Given the description of an element on the screen output the (x, y) to click on. 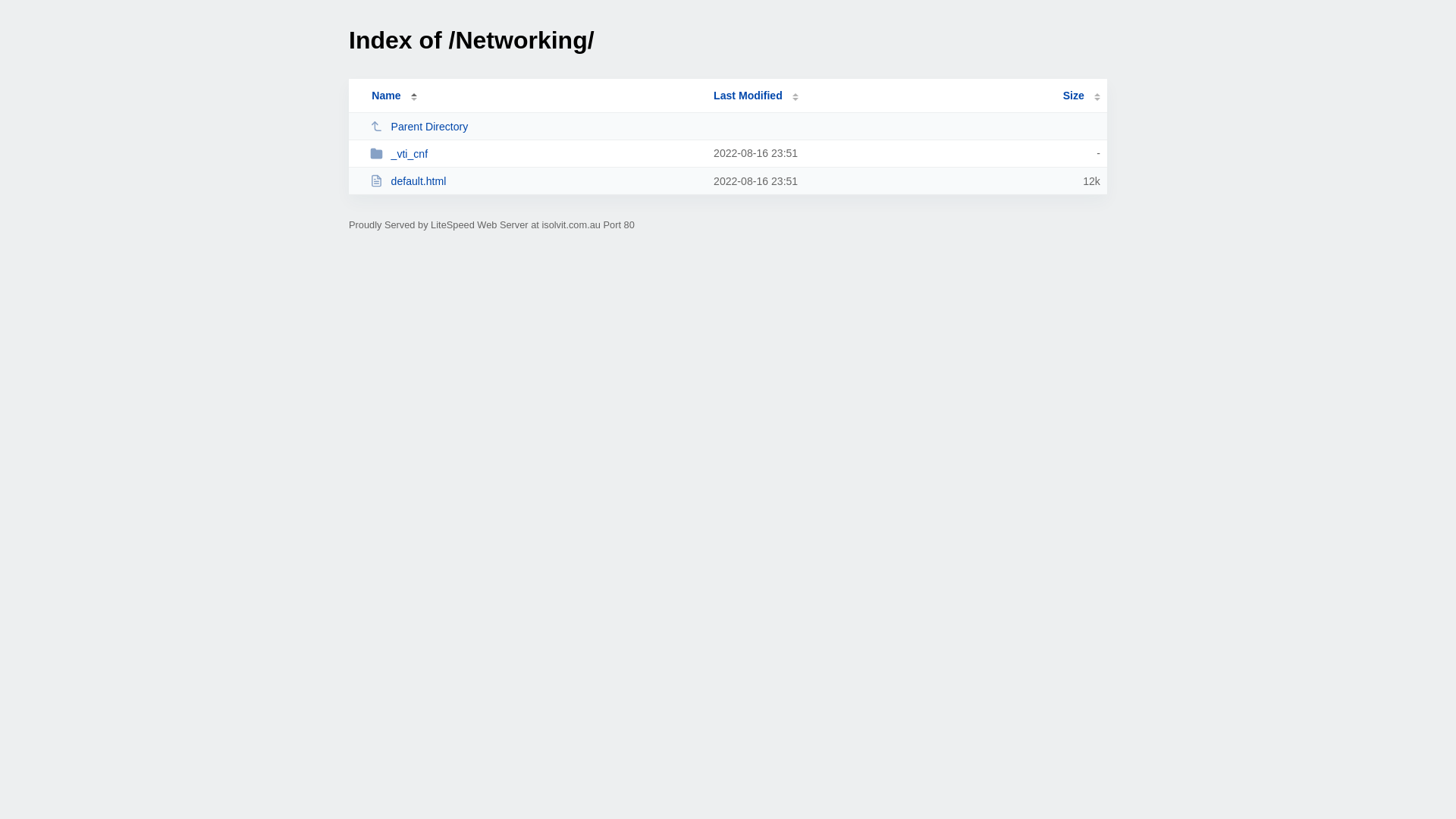
Last Modified Element type: text (755, 95)
Name Element type: text (385, 95)
default.html Element type: text (534, 180)
Parent Directory Element type: text (534, 125)
Size Element type: text (1081, 95)
_vti_cnf Element type: text (534, 153)
